Given the description of an element on the screen output the (x, y) to click on. 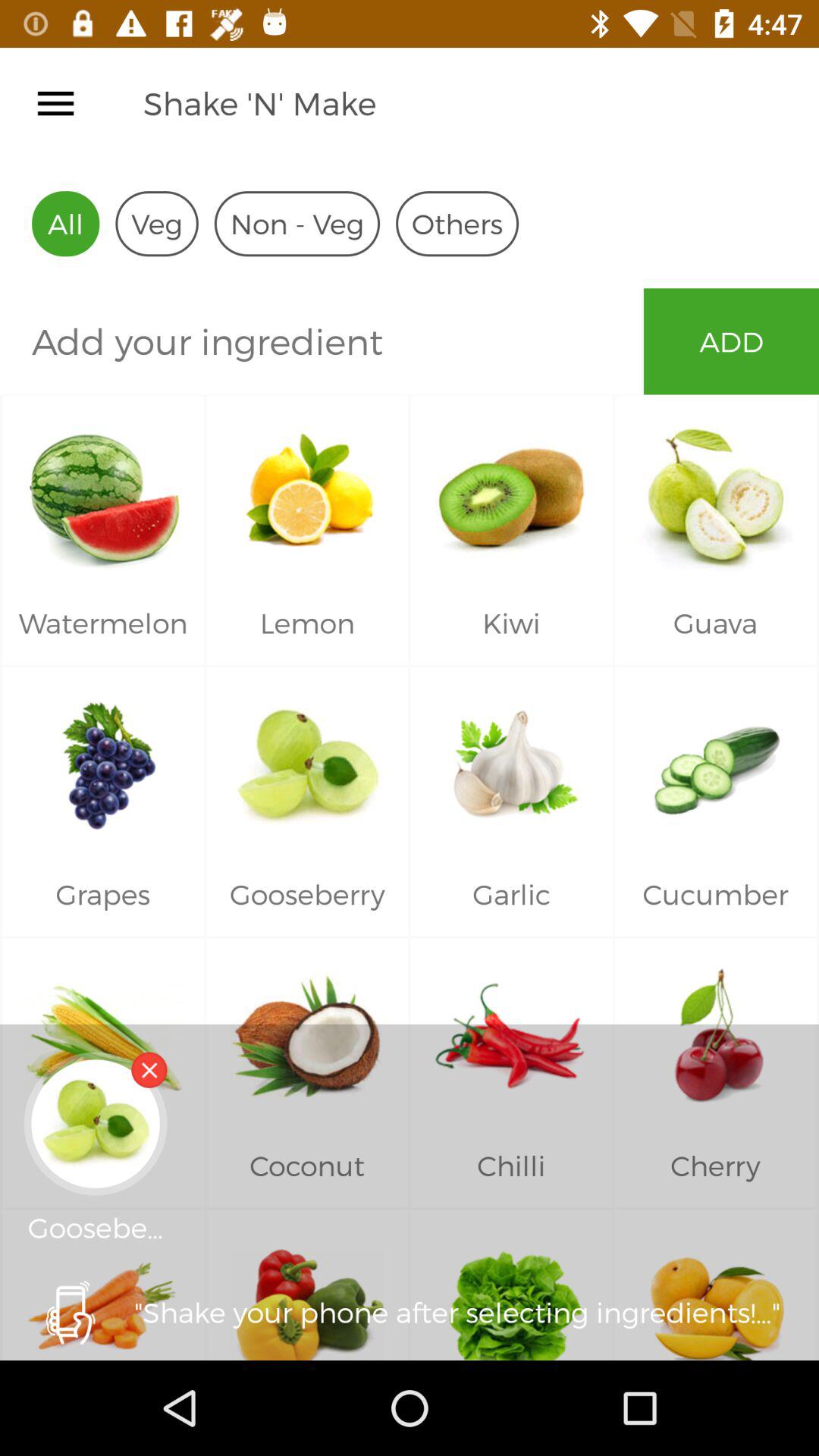
choose the item next to non - veg icon (456, 223)
